Given the description of an element on the screen output the (x, y) to click on. 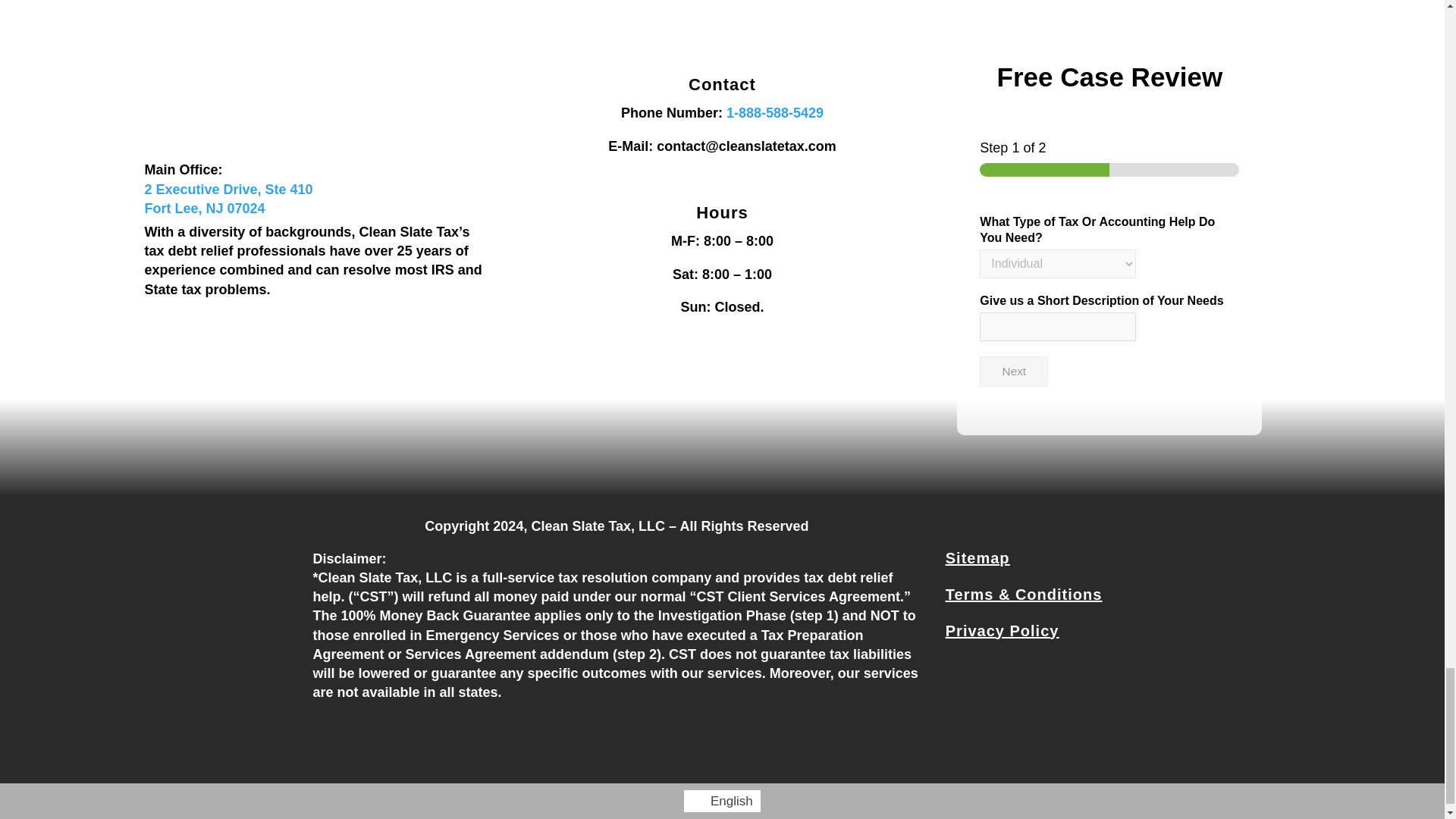
logo-final (316, 124)
